Given the description of an element on the screen output the (x, y) to click on. 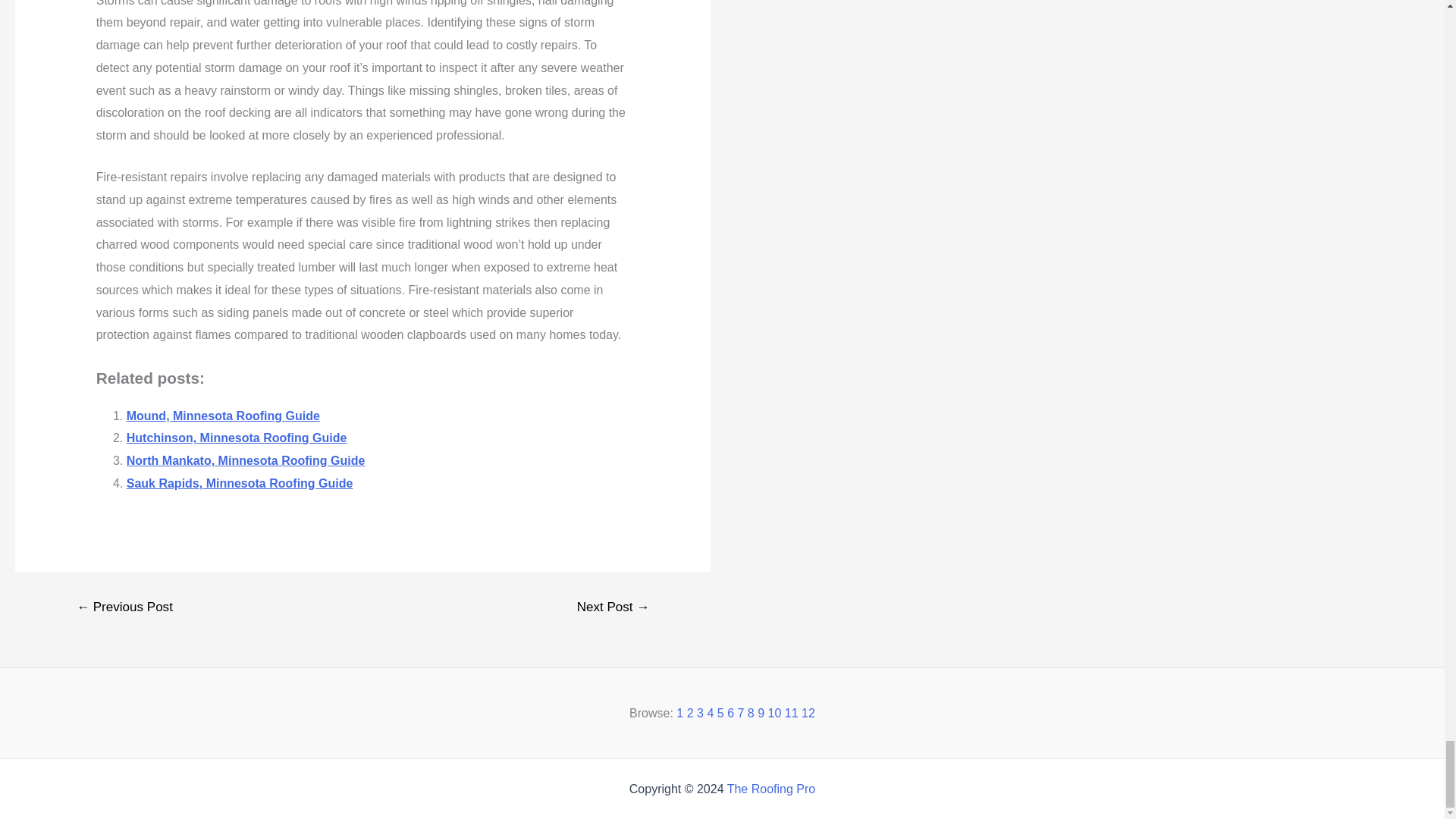
Sauk Rapids, Minnesota Roofing Guide (239, 482)
Hutchinson, Minnesota Roofing Guide (236, 437)
North Mankato, Minnesota Roofing Guide (245, 460)
Sauk Rapids, Minnesota Roofing Guide (239, 482)
Hutchinson, Minnesota Roofing Guide (236, 437)
Mound, Minnesota Roofing Guide (223, 415)
Mound, Minnesota Roofing Guide (223, 415)
North Mankato, Minnesota Roofing Guide (245, 460)
